Given the description of an element on the screen output the (x, y) to click on. 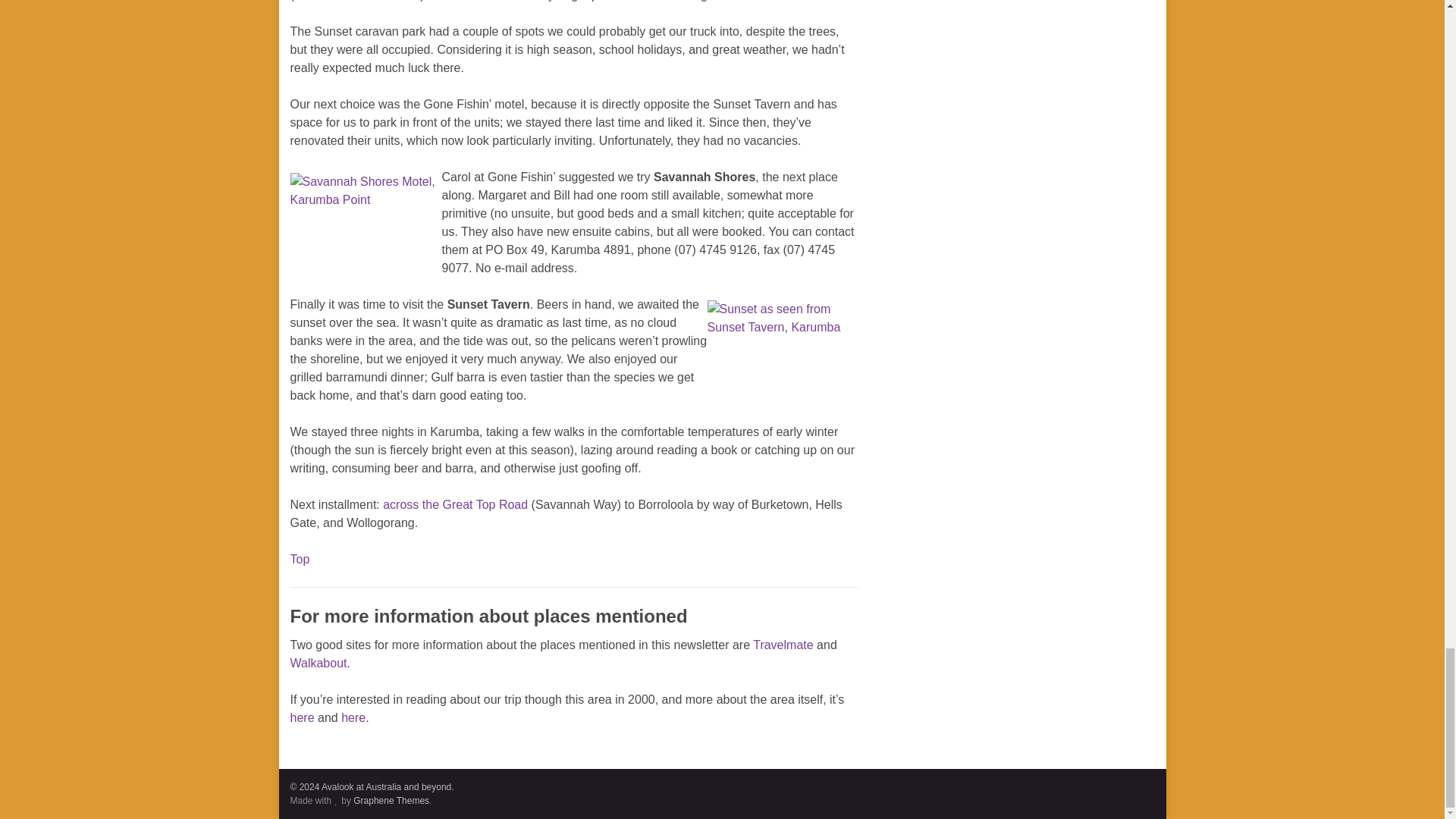
Sunset as seen from Sunset Tavern, Karumba (782, 351)
Travelmate (782, 644)
Savannah Shores Motel, Karumba Point (365, 220)
here (301, 717)
Top (298, 558)
here (352, 717)
Walkabout (317, 662)
across the Great Top Road (454, 504)
